Given the description of an element on the screen output the (x, y) to click on. 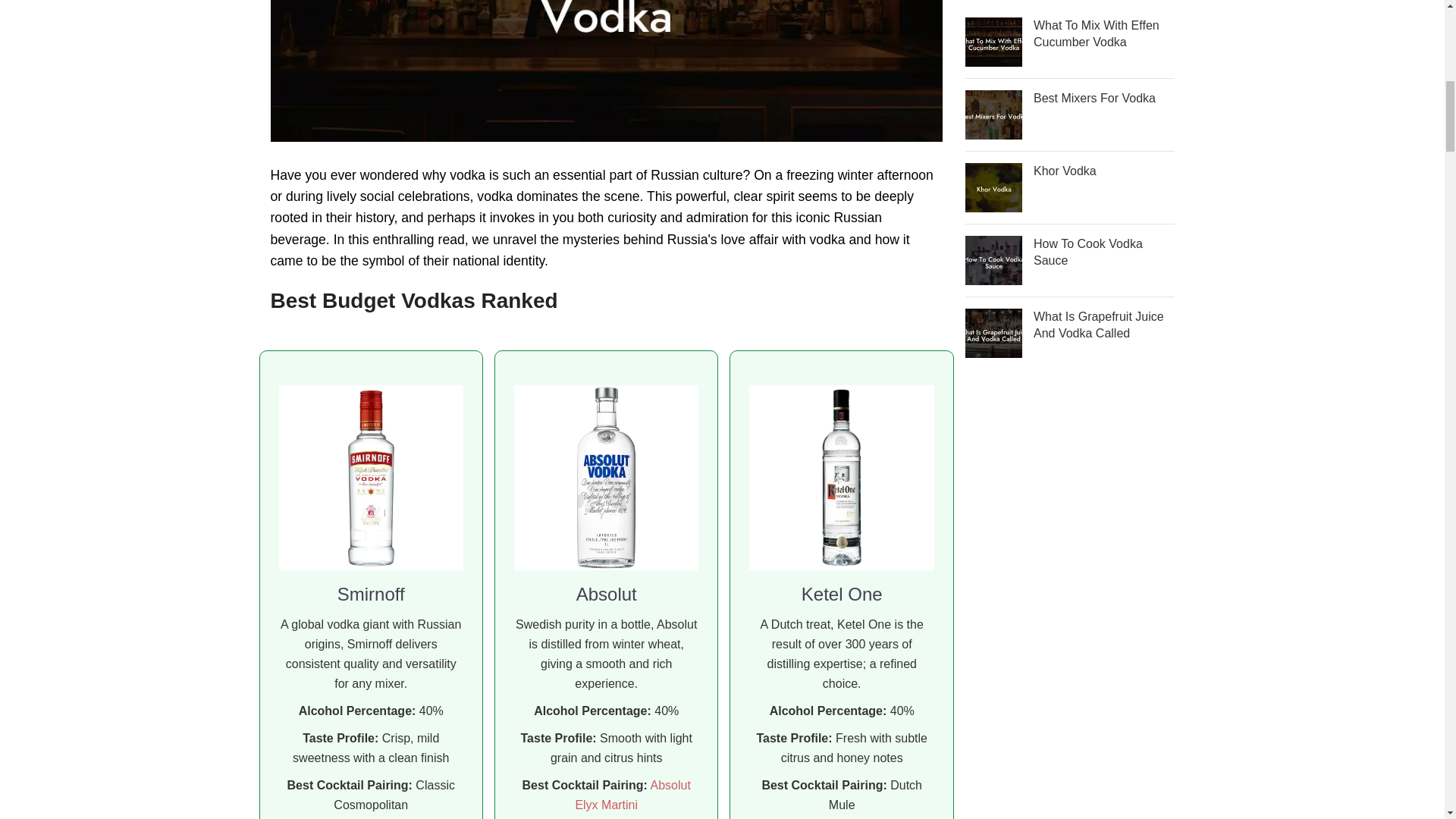
absolut vodka doctors (605, 476)
smirnoff vodka doctors (371, 476)
ketel one vodka doctors (841, 476)
